Given the description of an element on the screen output the (x, y) to click on. 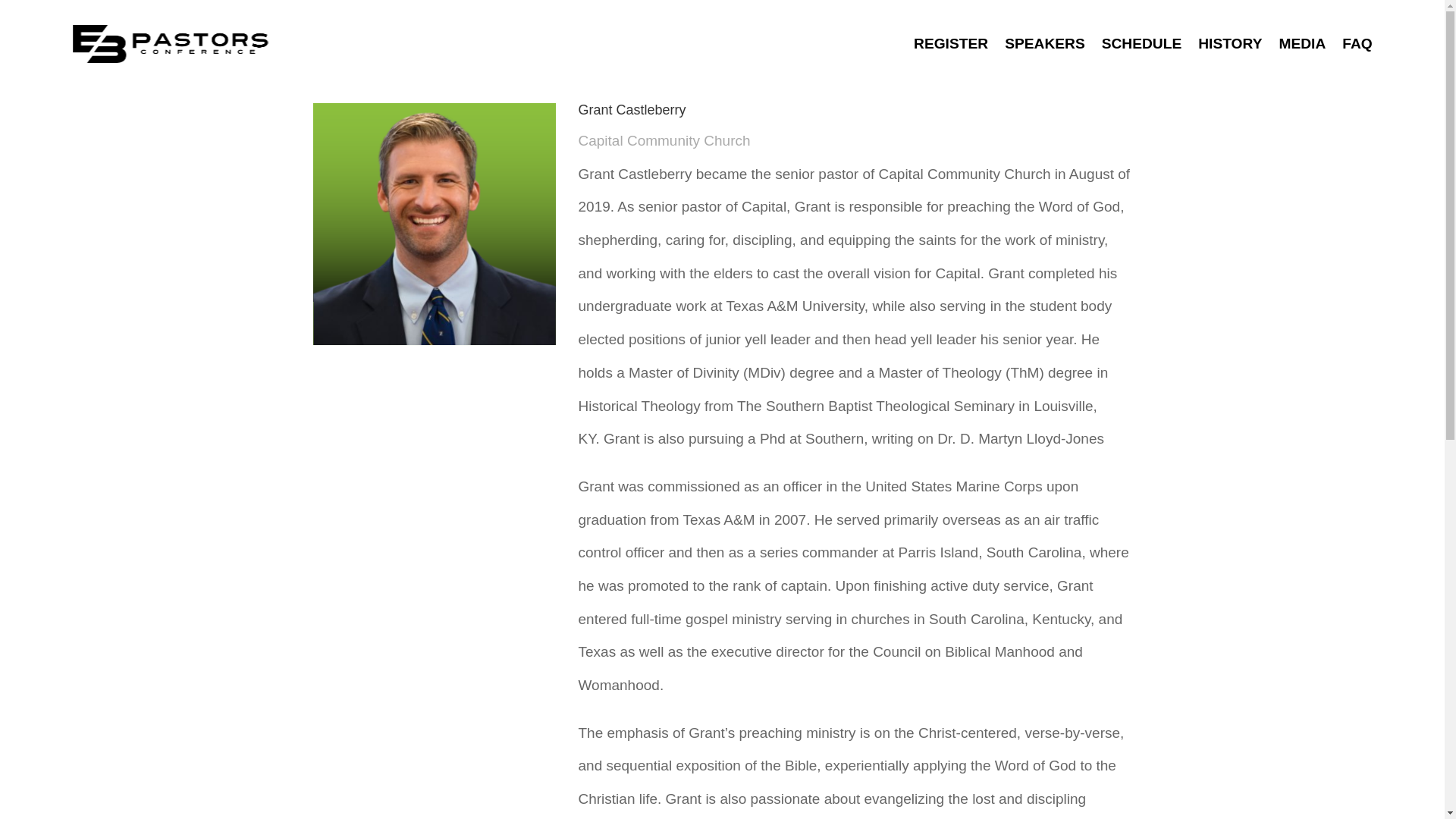
SCHEDULE (1142, 43)
MEDIA (1301, 43)
FAQ (1356, 43)
SPEAKERS (1044, 43)
REGISTER (951, 43)
HISTORY (1230, 43)
